Given the description of an element on the screen output the (x, y) to click on. 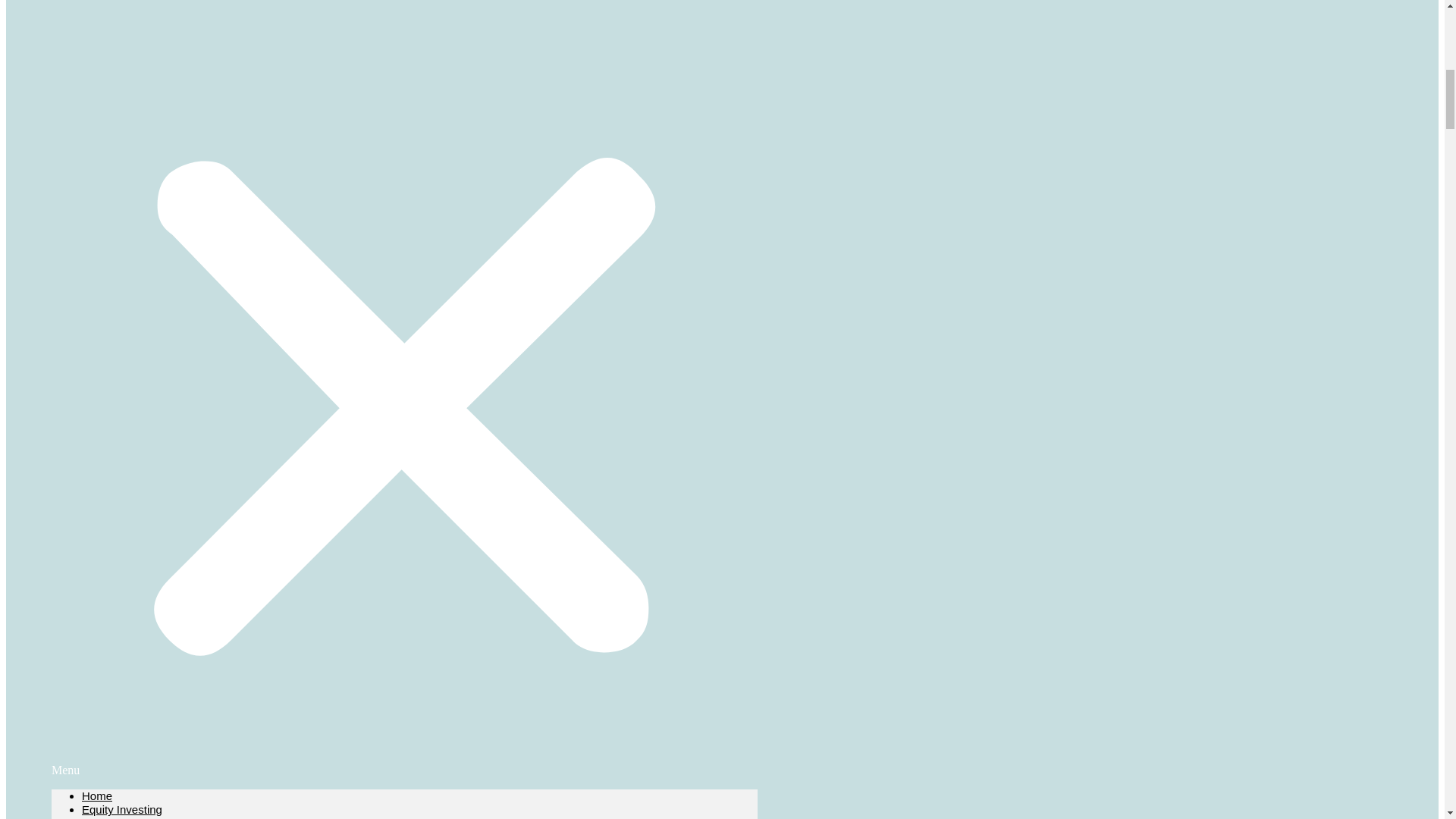
Home (96, 795)
Featured (104, 817)
Equity Investing (121, 809)
